Given the description of an element on the screen output the (x, y) to click on. 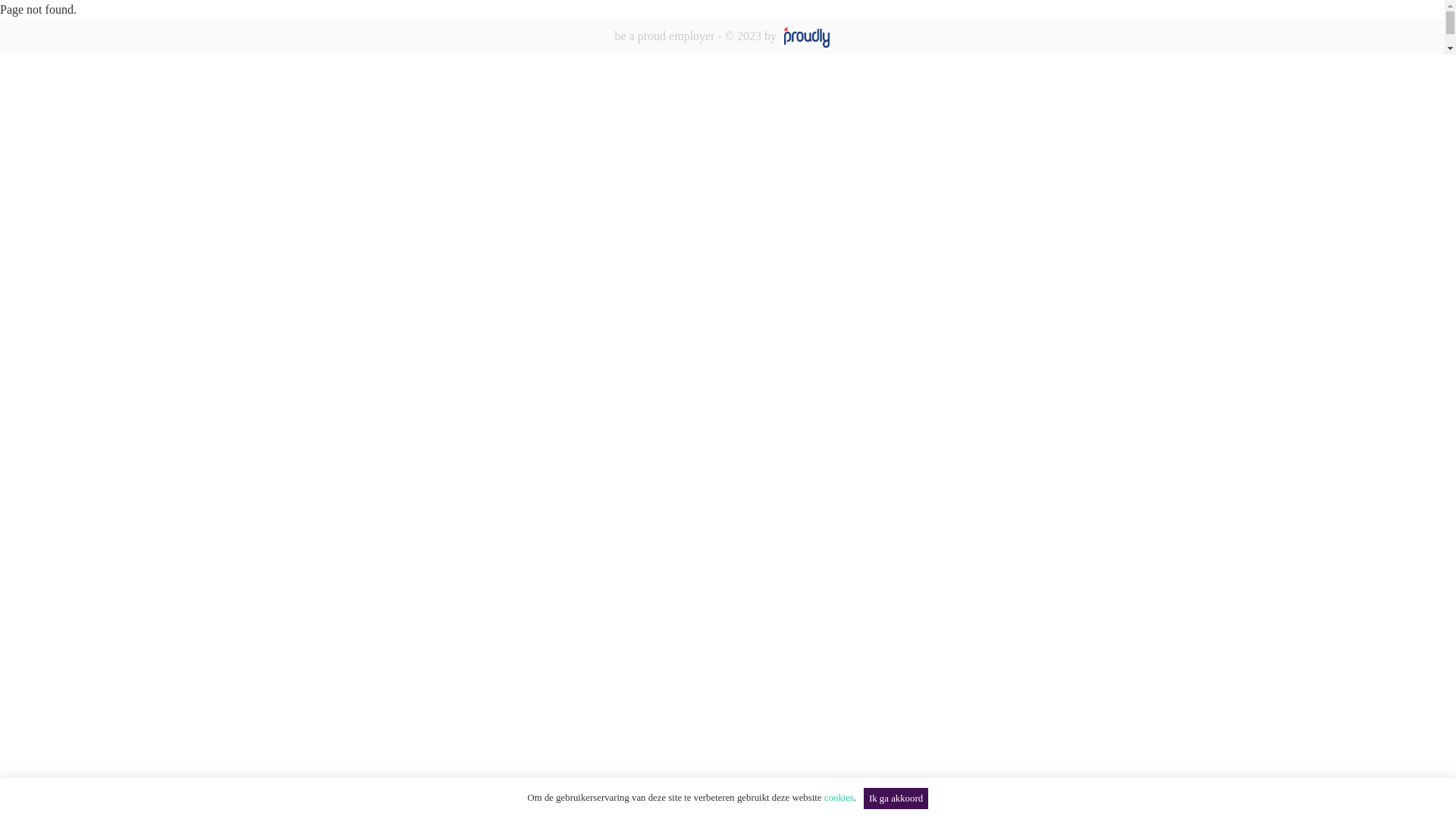
Ik ga akkoord Element type: text (895, 798)
cookies Element type: text (838, 797)
